Given the description of an element on the screen output the (x, y) to click on. 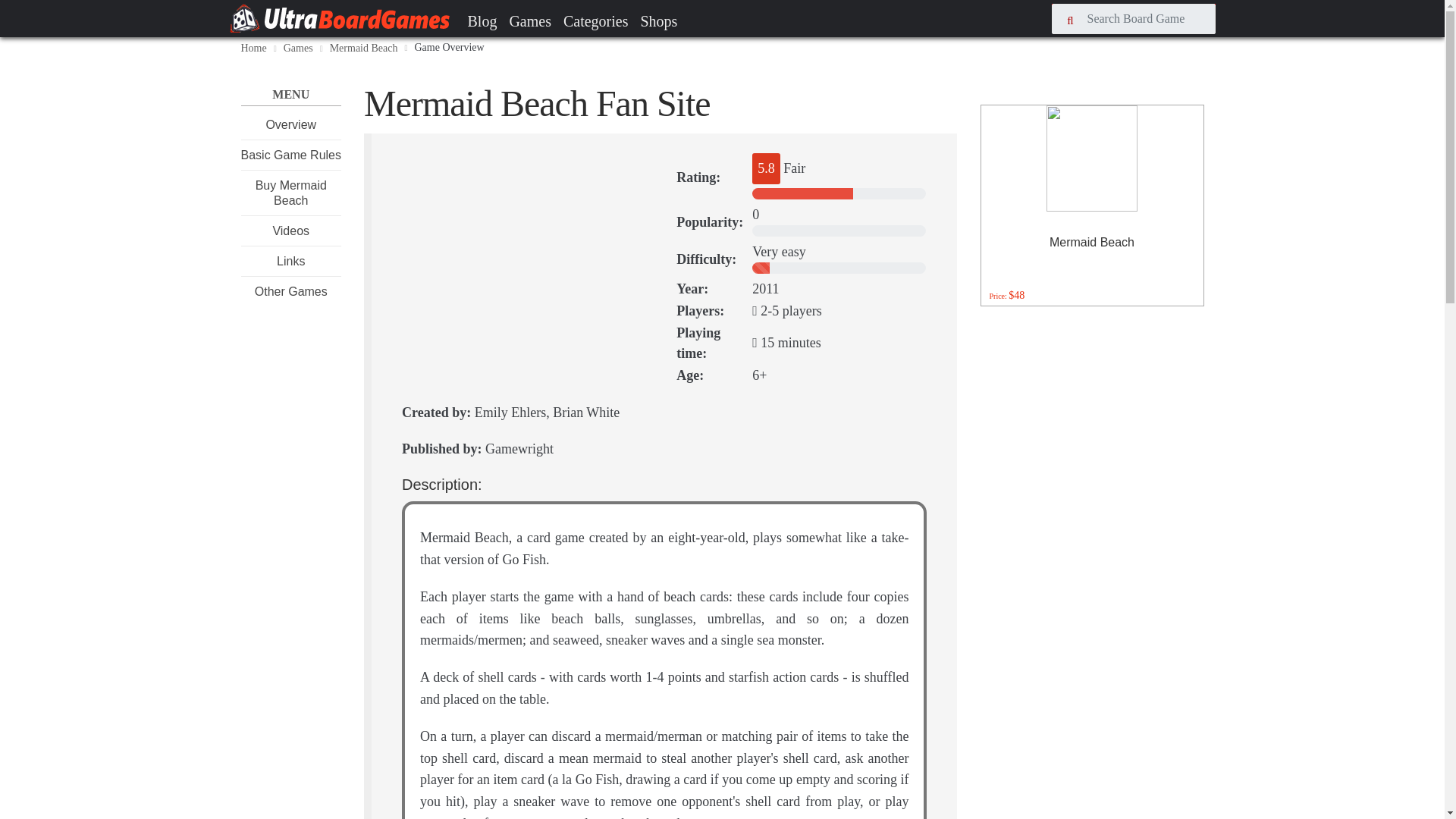
Mermaid Beach (363, 48)
Videos (290, 230)
Shops (657, 20)
Buy Mermaid Beach (291, 192)
Overview (289, 124)
Home (253, 48)
Games (298, 48)
Other Games (290, 291)
Games (529, 20)
Links (290, 260)
Blog (481, 20)
Categories (595, 20)
Basic Game Rules (291, 154)
